Given the description of an element on the screen output the (x, y) to click on. 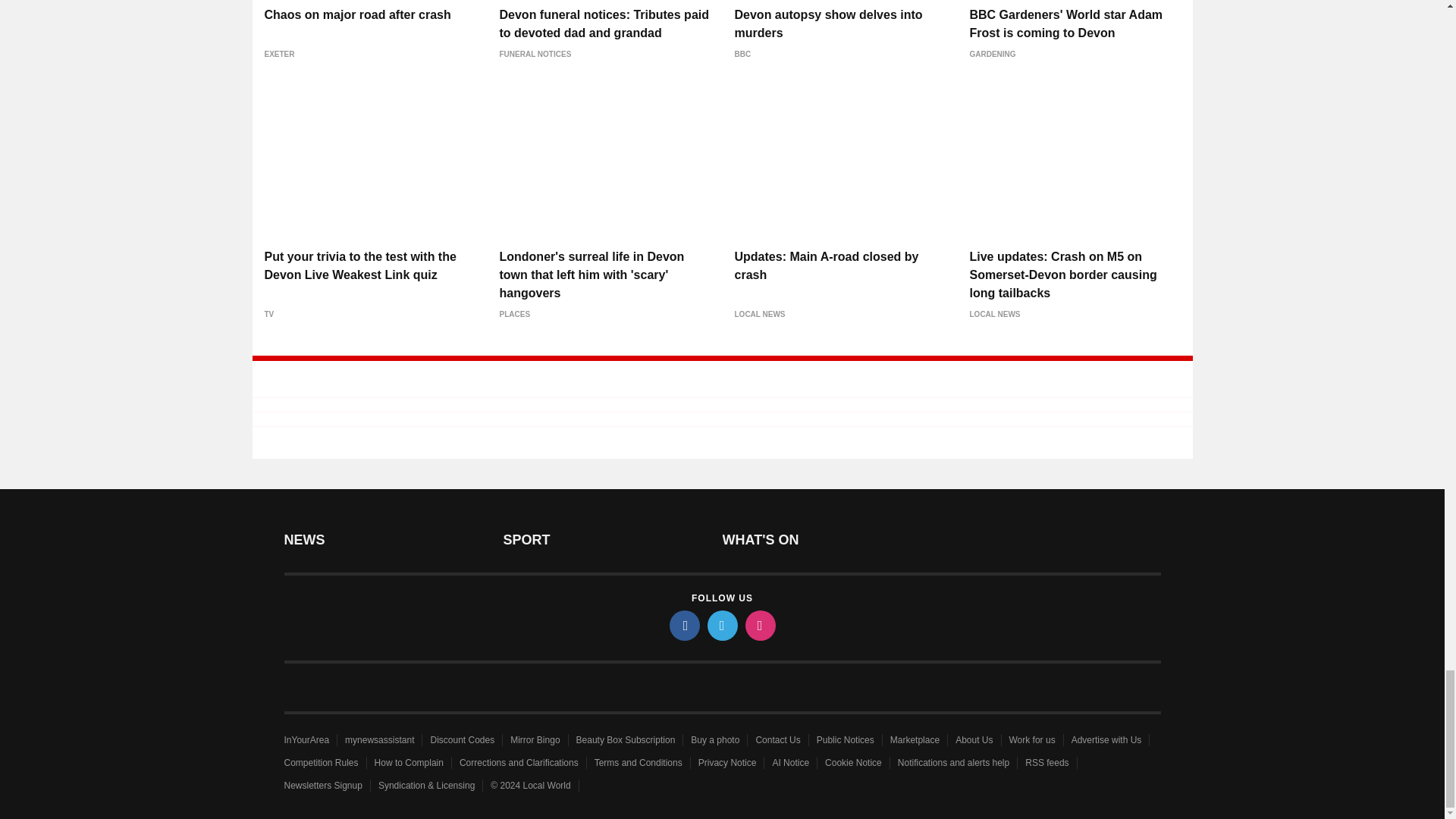
twitter (721, 625)
facebook (683, 625)
instagram (759, 625)
